Given the description of an element on the screen output the (x, y) to click on. 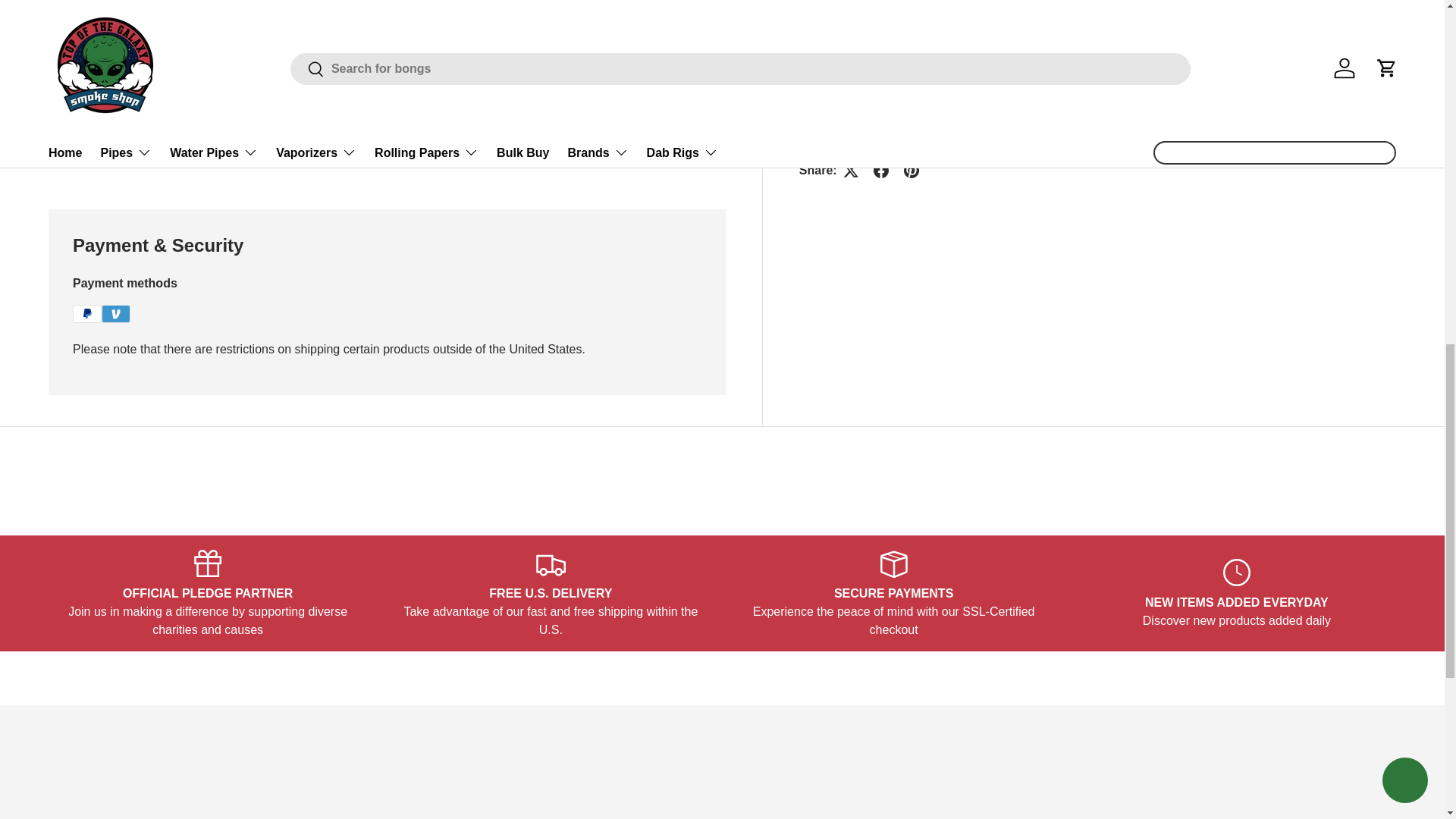
Pin on Pinterest (911, 146)
Share on Facebook (881, 146)
PayPal (86, 313)
Tweet on X (850, 146)
Venmo (116, 313)
